Given the description of an element on the screen output the (x, y) to click on. 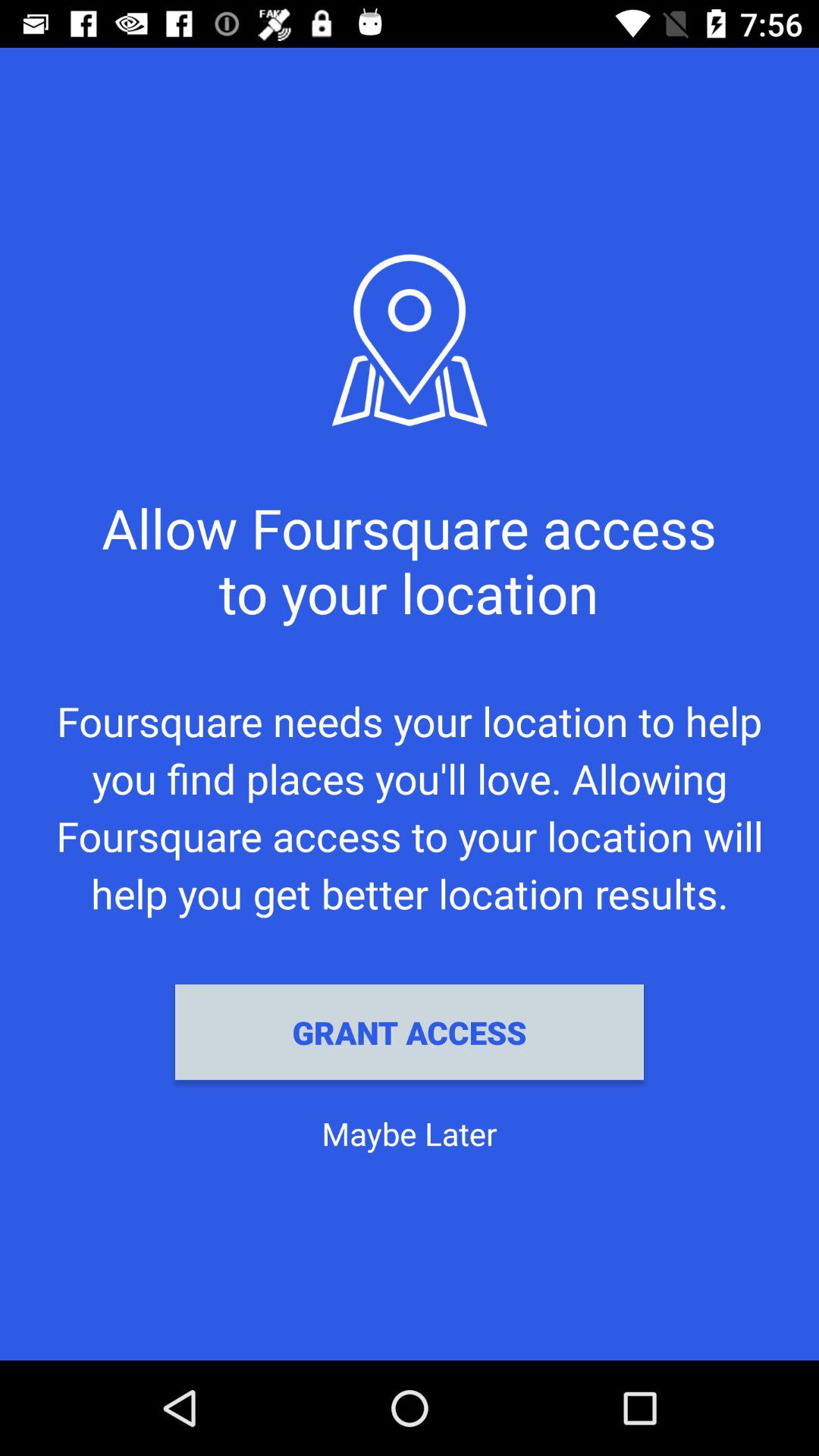
choose item below grant access icon (409, 1133)
